Given the description of an element on the screen output the (x, y) to click on. 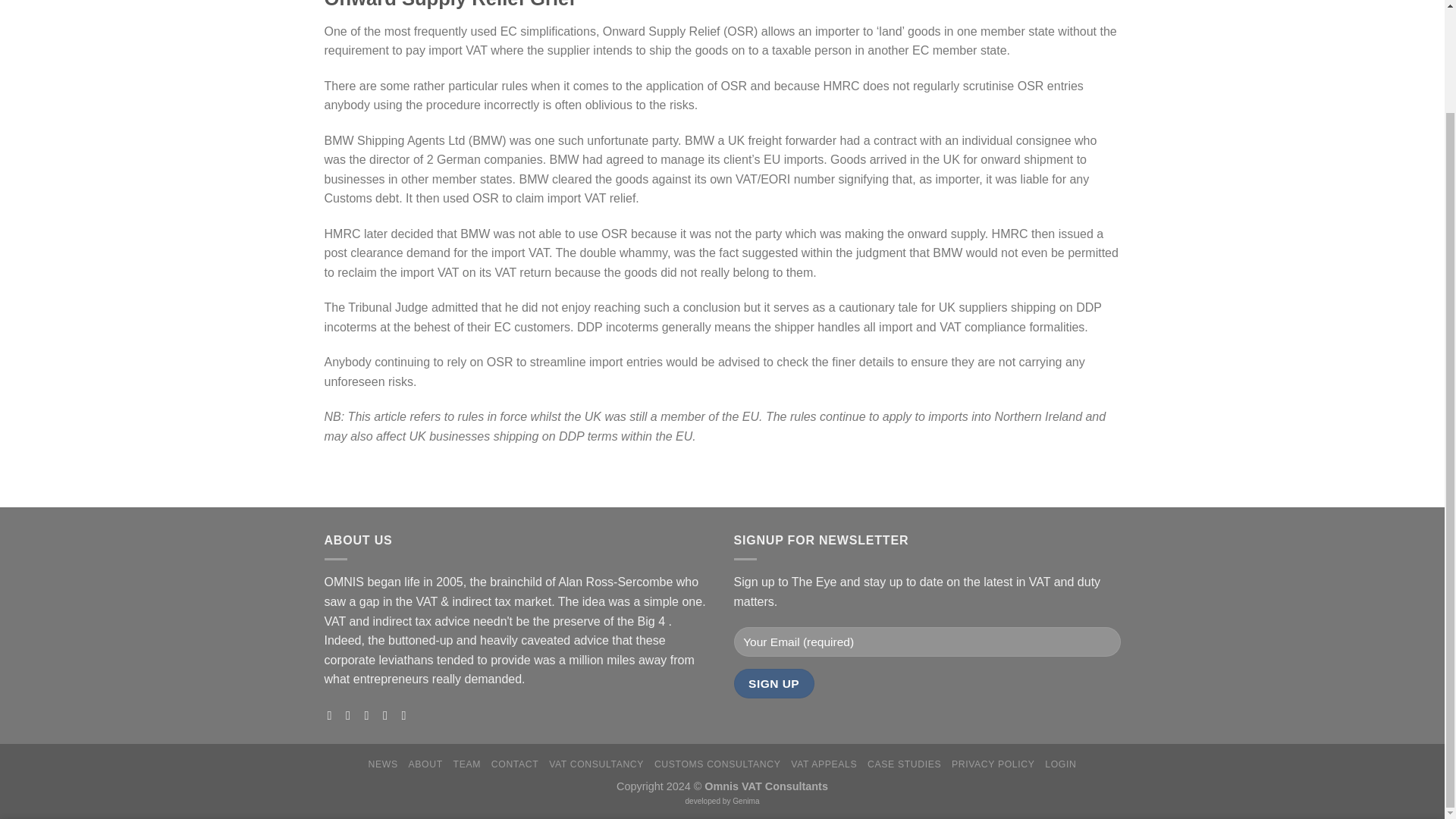
Sign Up (773, 683)
